Given the description of an element on the screen output the (x, y) to click on. 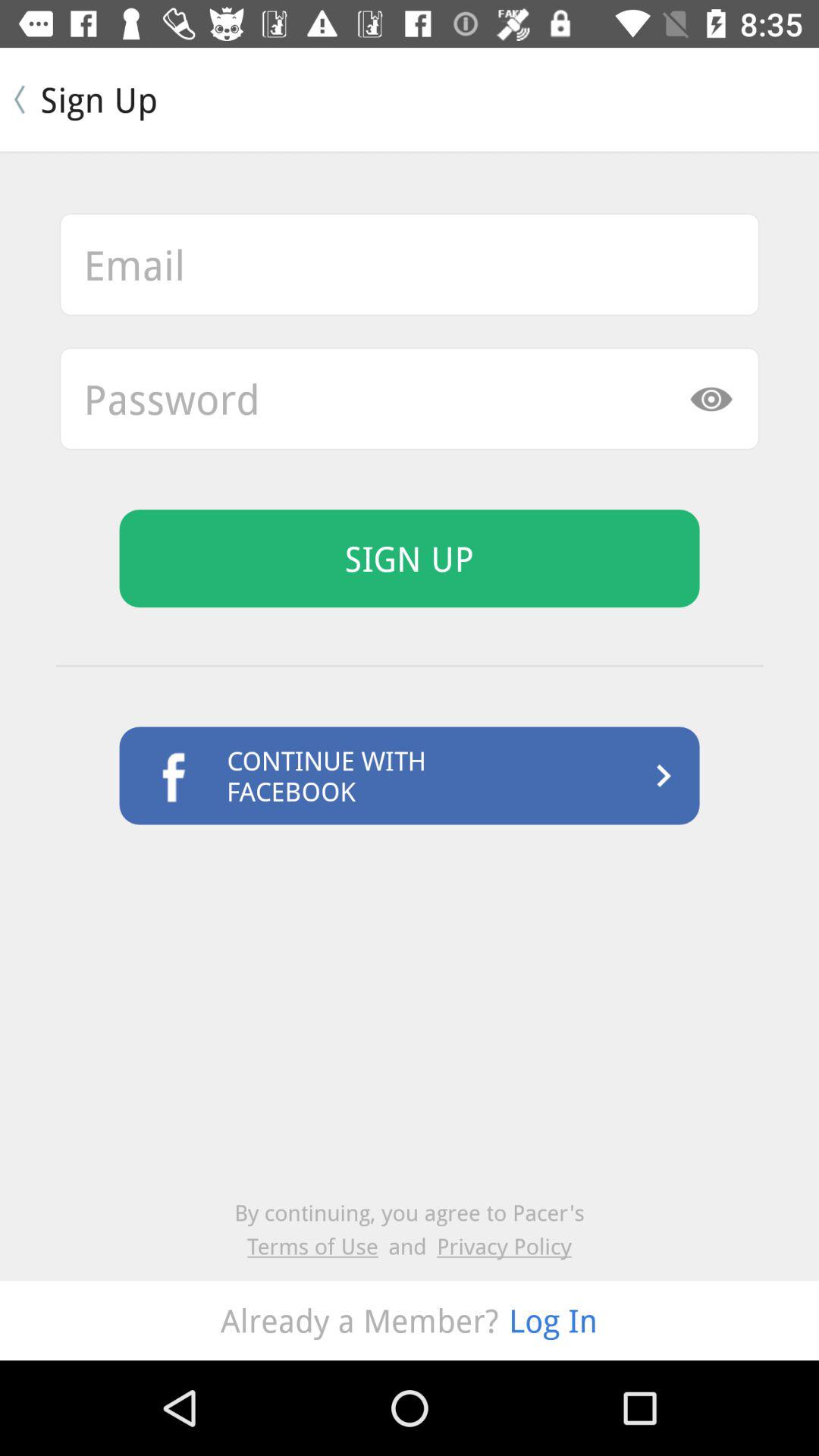
scroll to the privacy policy (503, 1245)
